Given the description of an element on the screen output the (x, y) to click on. 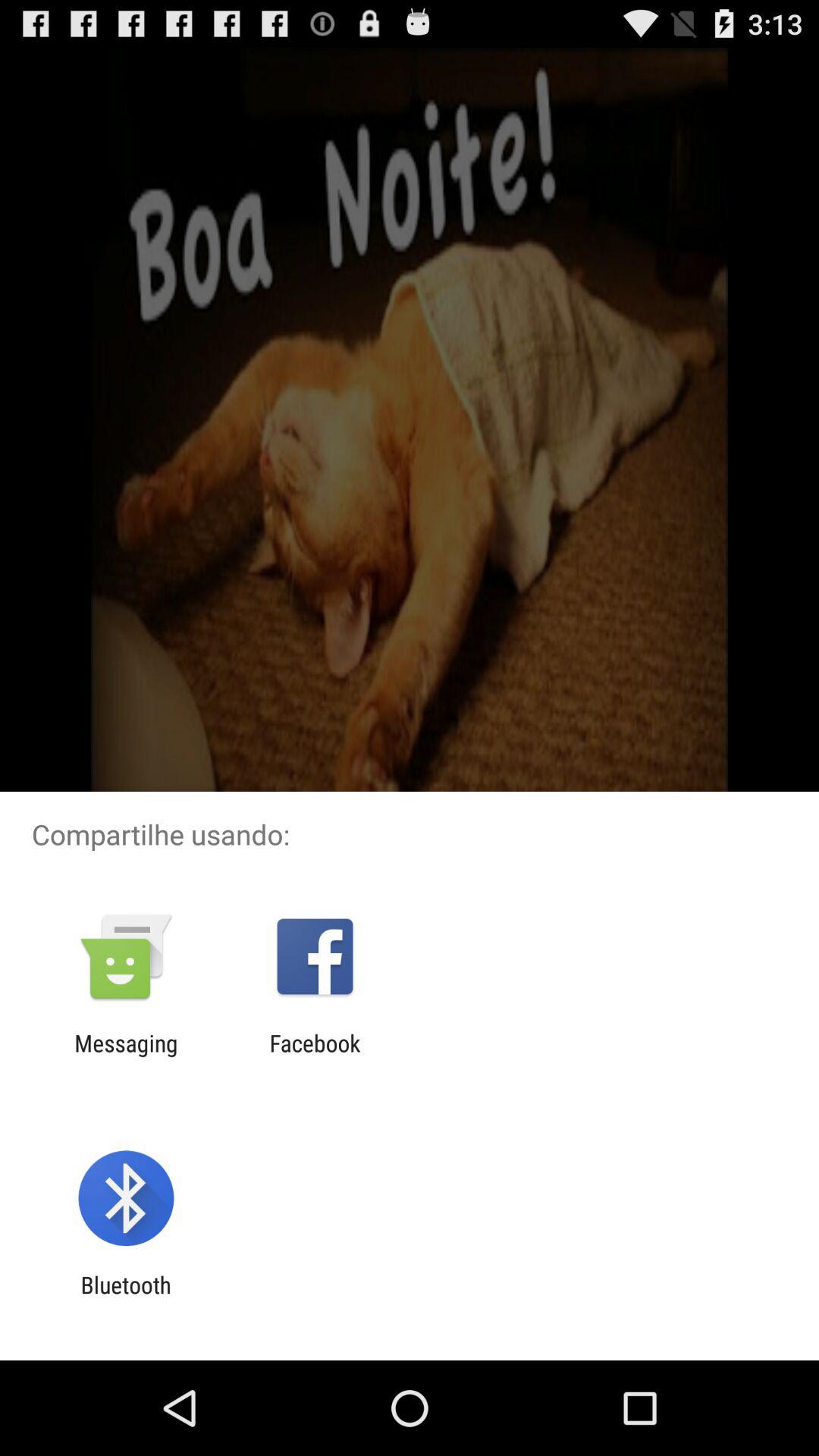
turn on facebook at the bottom (314, 1056)
